Given the description of an element on the screen output the (x, y) to click on. 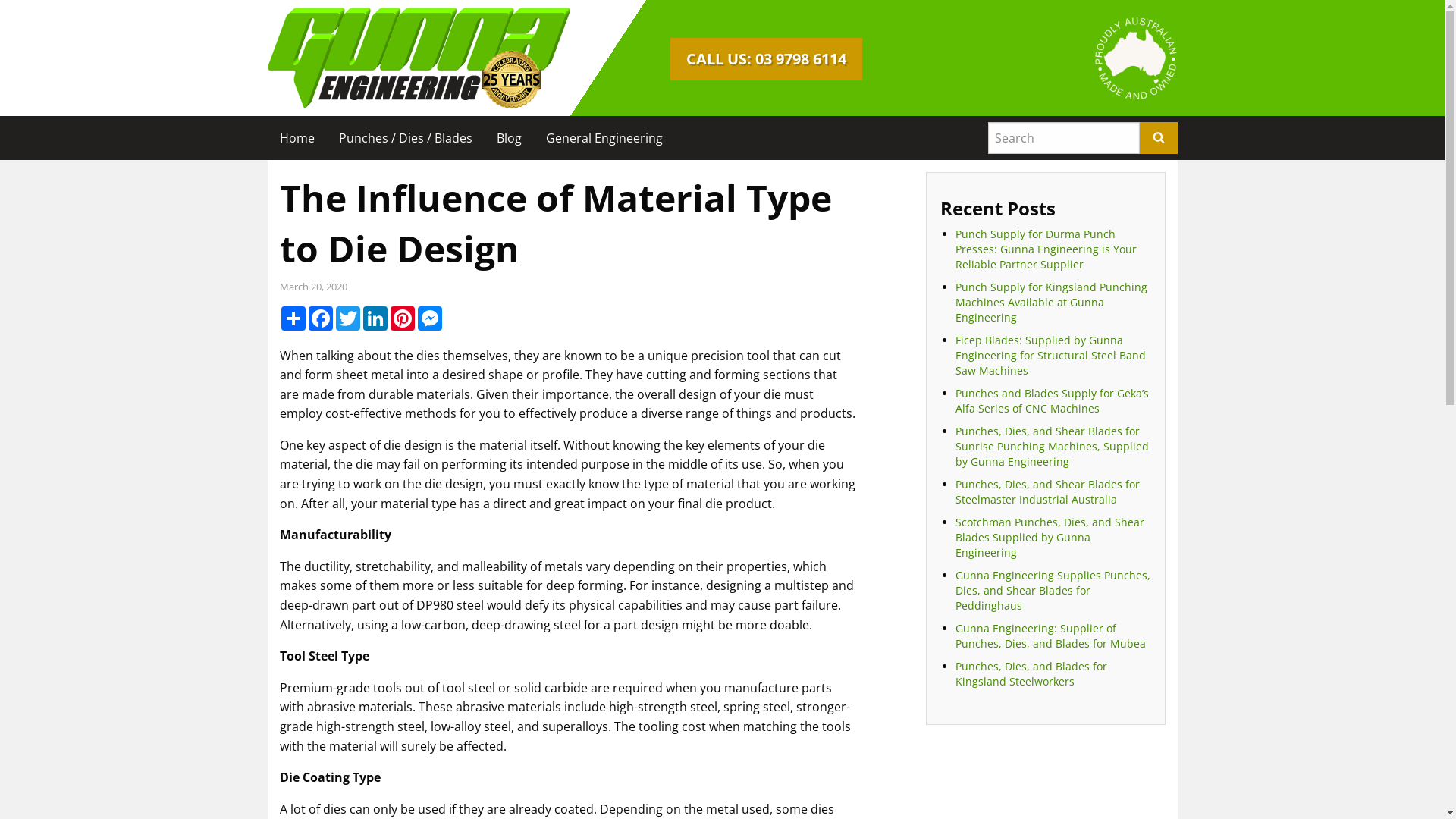
Blog Element type: text (508, 137)
Home Element type: text (296, 137)
Search Element type: hover (1157, 137)
Messenger Element type: text (428, 318)
Share Element type: text (292, 318)
Pinterest Element type: text (401, 318)
Search for: Element type: hover (1063, 137)
Punches, Dies, and Blades for Kingsland Steelworkers Element type: text (1031, 673)
Twitter Element type: text (346, 318)
CALL US: 03 9798 6114 Element type: text (766, 58)
Facebook Element type: text (319, 318)
Punches / Dies / Blades Element type: text (404, 137)
General Engineering Element type: text (603, 137)
LinkedIn Element type: text (374, 318)
